Given the description of an element on the screen output the (x, y) to click on. 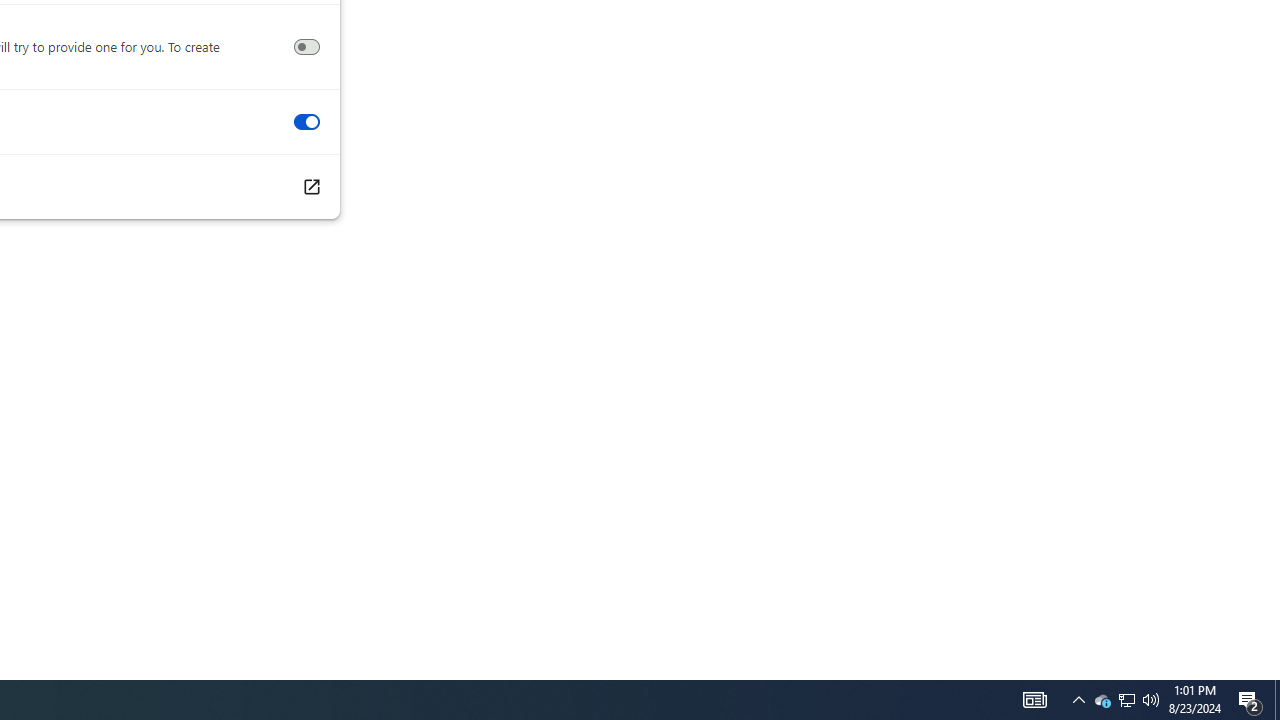
Swipe between pages (306, 122)
Add accessibility features Open Chrome Web Store (310, 187)
Get image descriptions from Google (306, 47)
